Given the description of an element on the screen output the (x, y) to click on. 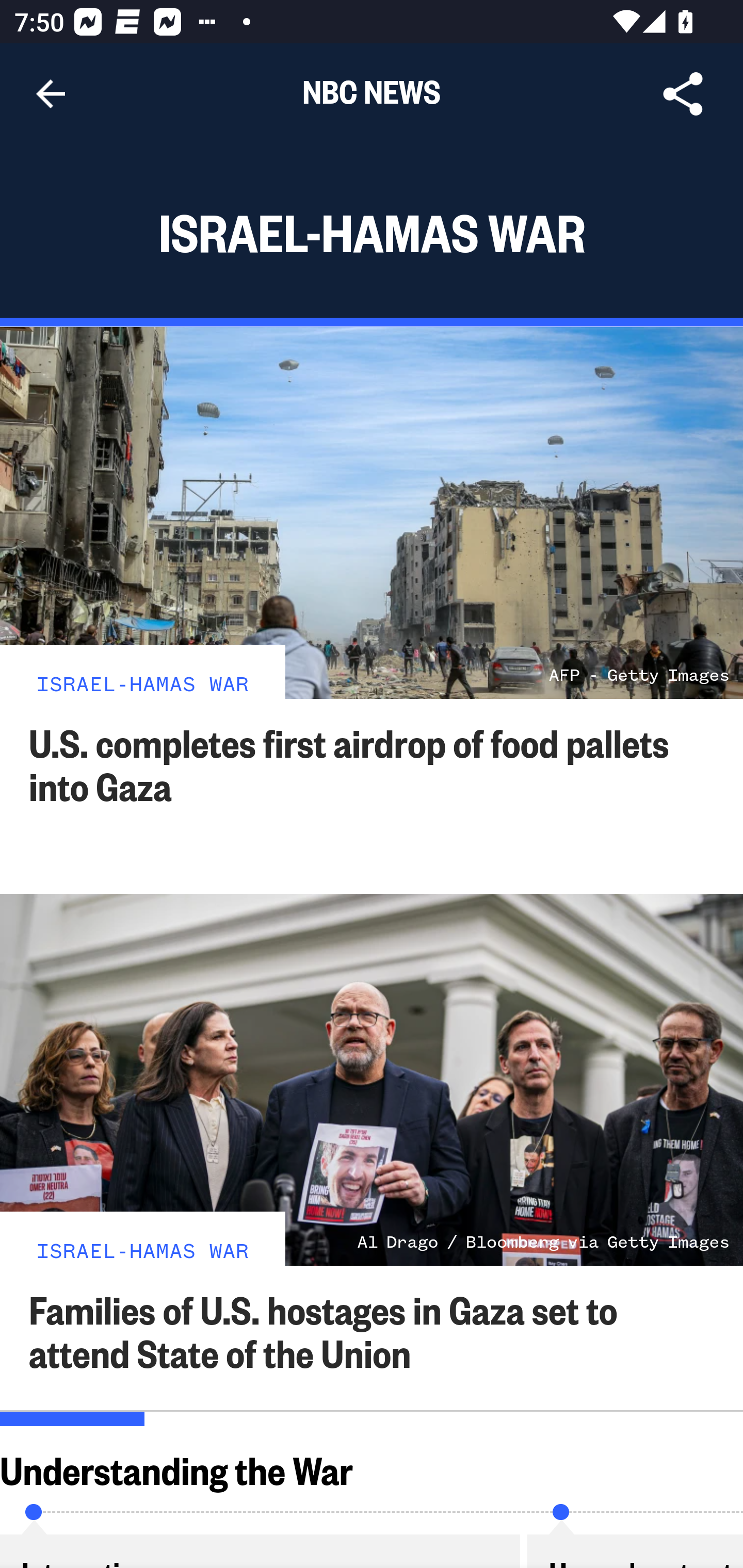
Navigate up (50, 93)
Share Article, button (683, 94)
ISRAEL-HAMAS WAR (142, 682)
ISRAEL-HAMAS WAR (142, 1249)
